Given the description of an element on the screen output the (x, y) to click on. 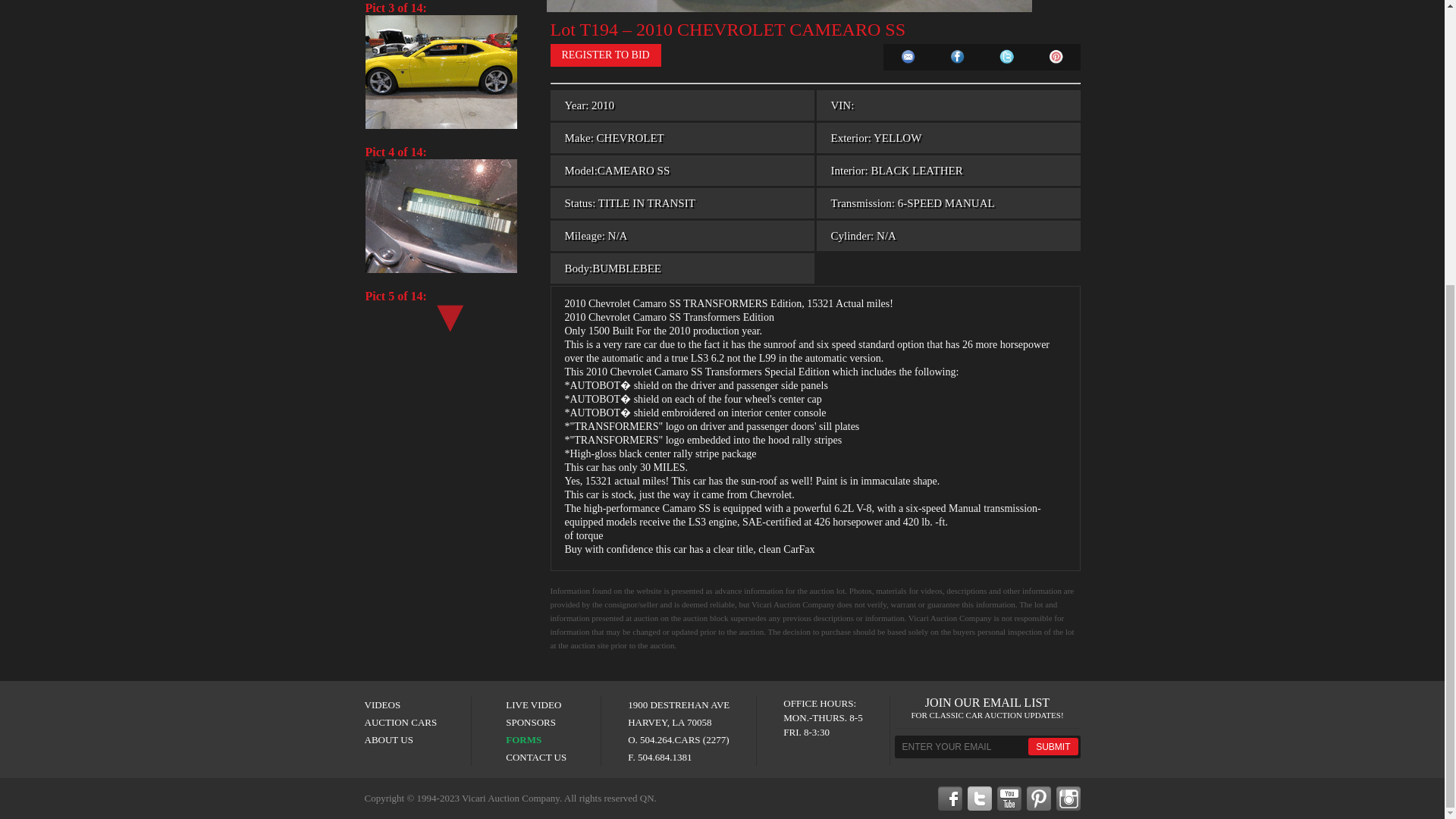
LIVE VIDEO (532, 704)
ABOUT US (388, 739)
REGISTER TO BID (605, 55)
Youtube (1007, 798)
Twitter (1006, 57)
Facebook (948, 798)
Pinterest (1038, 798)
Facebook (956, 57)
Submit (1052, 746)
FORMS (523, 739)
SPONSORS (530, 722)
CONTACT US (535, 756)
VIDEOS (382, 704)
Next (446, 312)
Email (908, 57)
